Given the description of an element on the screen output the (x, y) to click on. 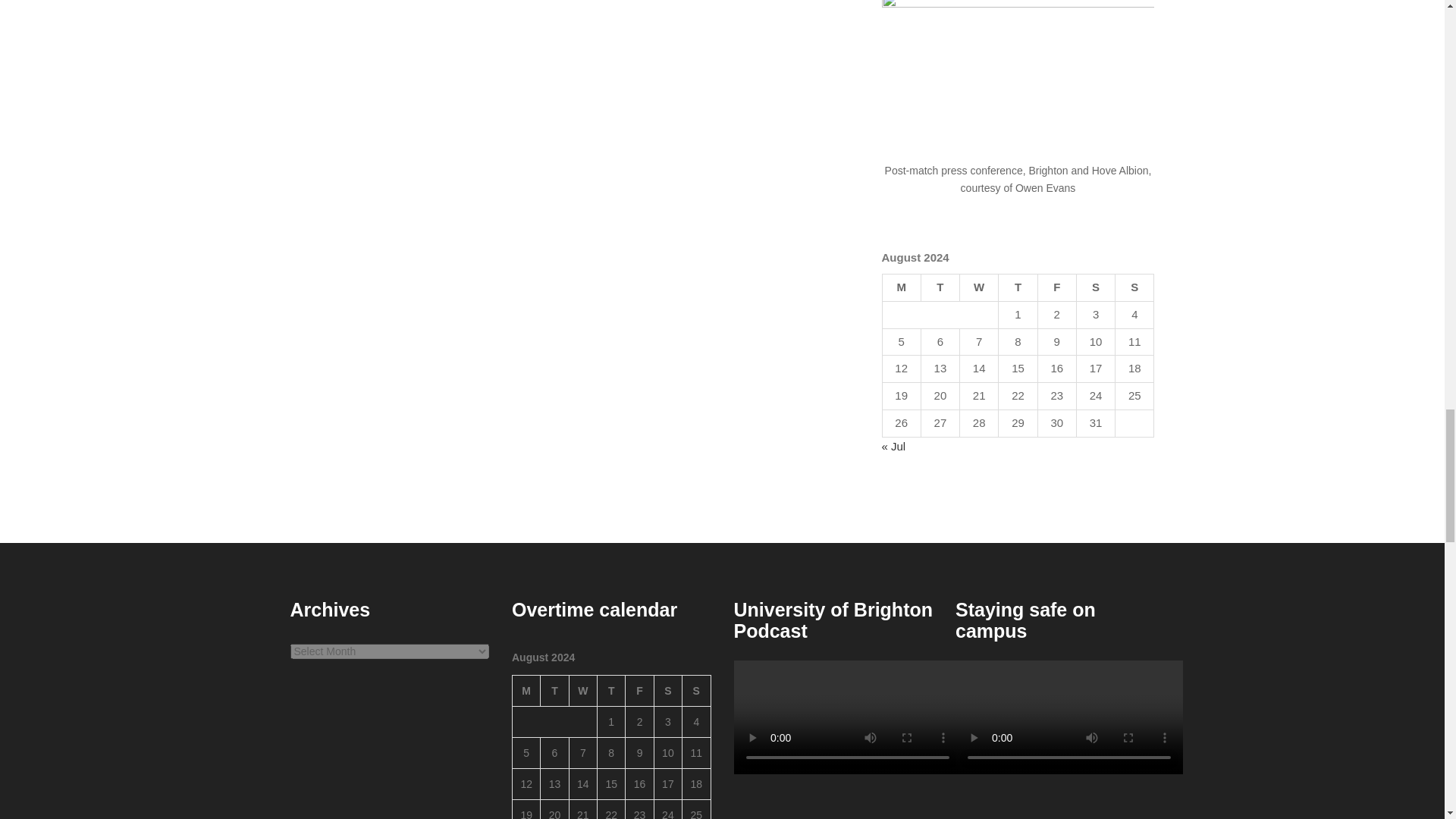
Saturday (1095, 288)
Friday (639, 689)
Wednesday (978, 288)
Thursday (611, 689)
Monday (901, 288)
Wednesday (582, 689)
Sunday (1134, 288)
Tuesday (554, 689)
Sunday (696, 689)
Monday (526, 689)
